Given the description of an element on the screen output the (x, y) to click on. 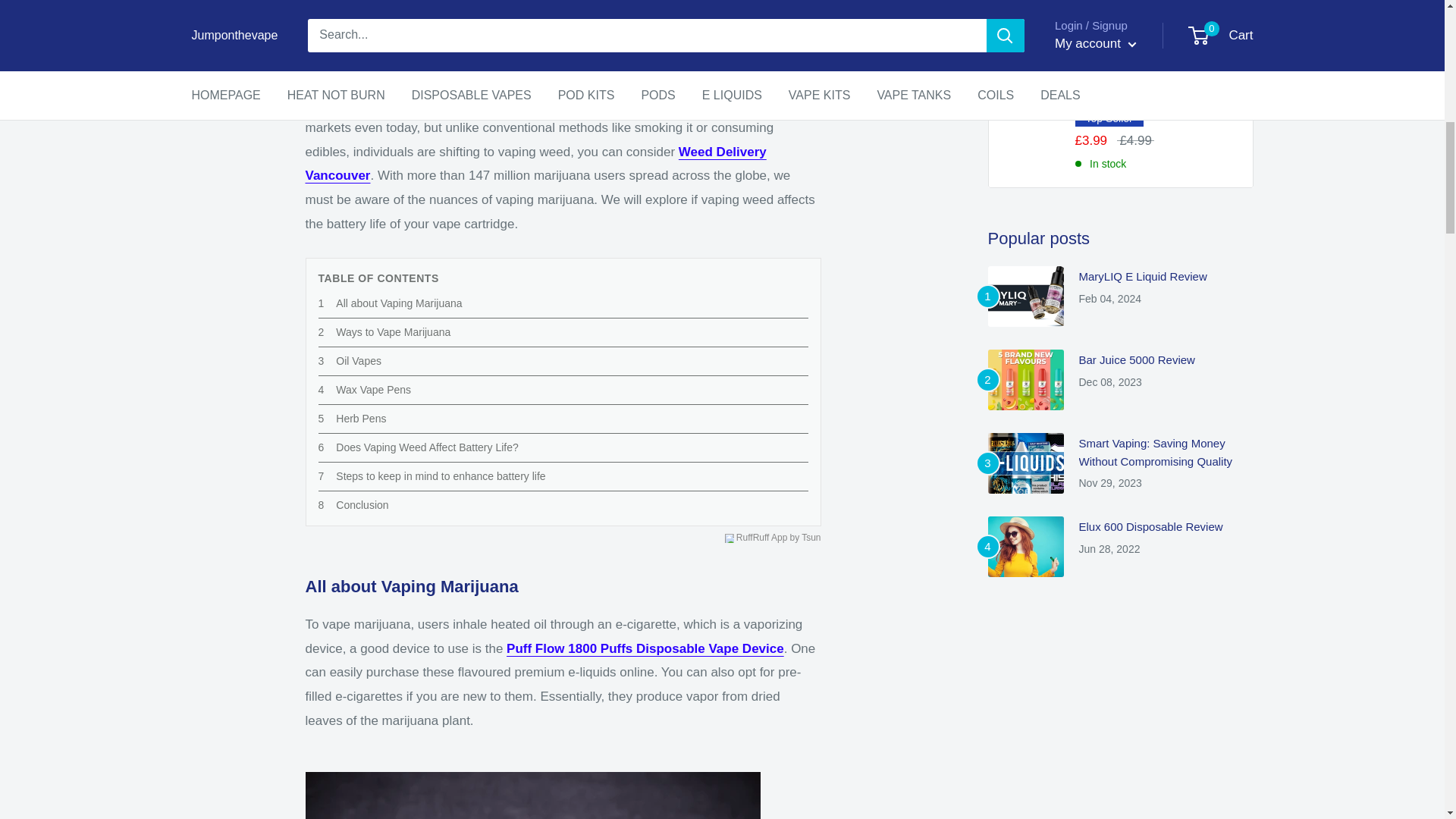
RuffRuff App (761, 538)
Puff Flow 1800 Puffs Disposable Vape Device (645, 648)
Tsun (811, 538)
Weed Delivery Vancouver (534, 163)
